Given the description of an element on the screen output the (x, y) to click on. 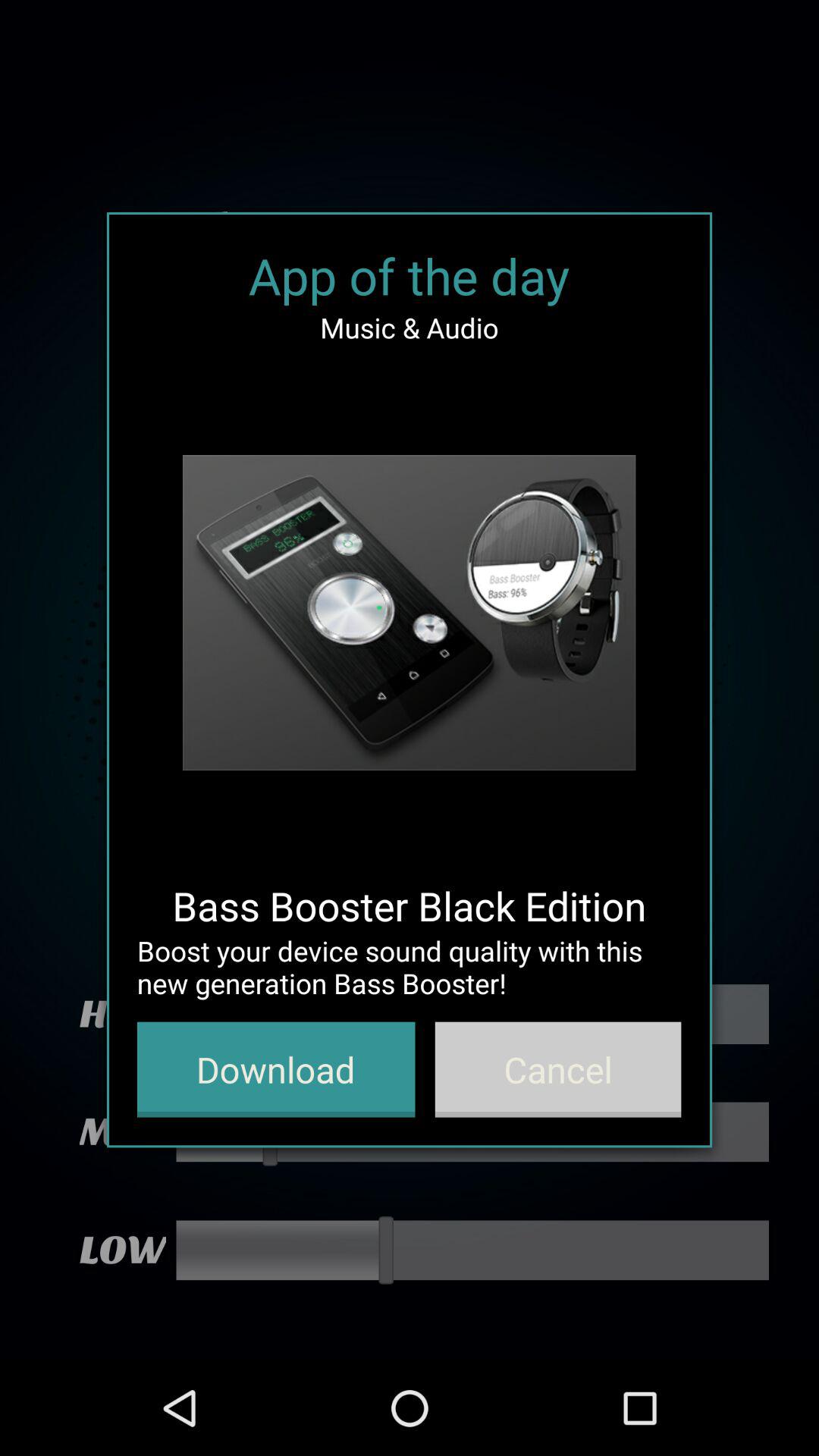
jump to cancel button (558, 1069)
